Given the description of an element on the screen output the (x, y) to click on. 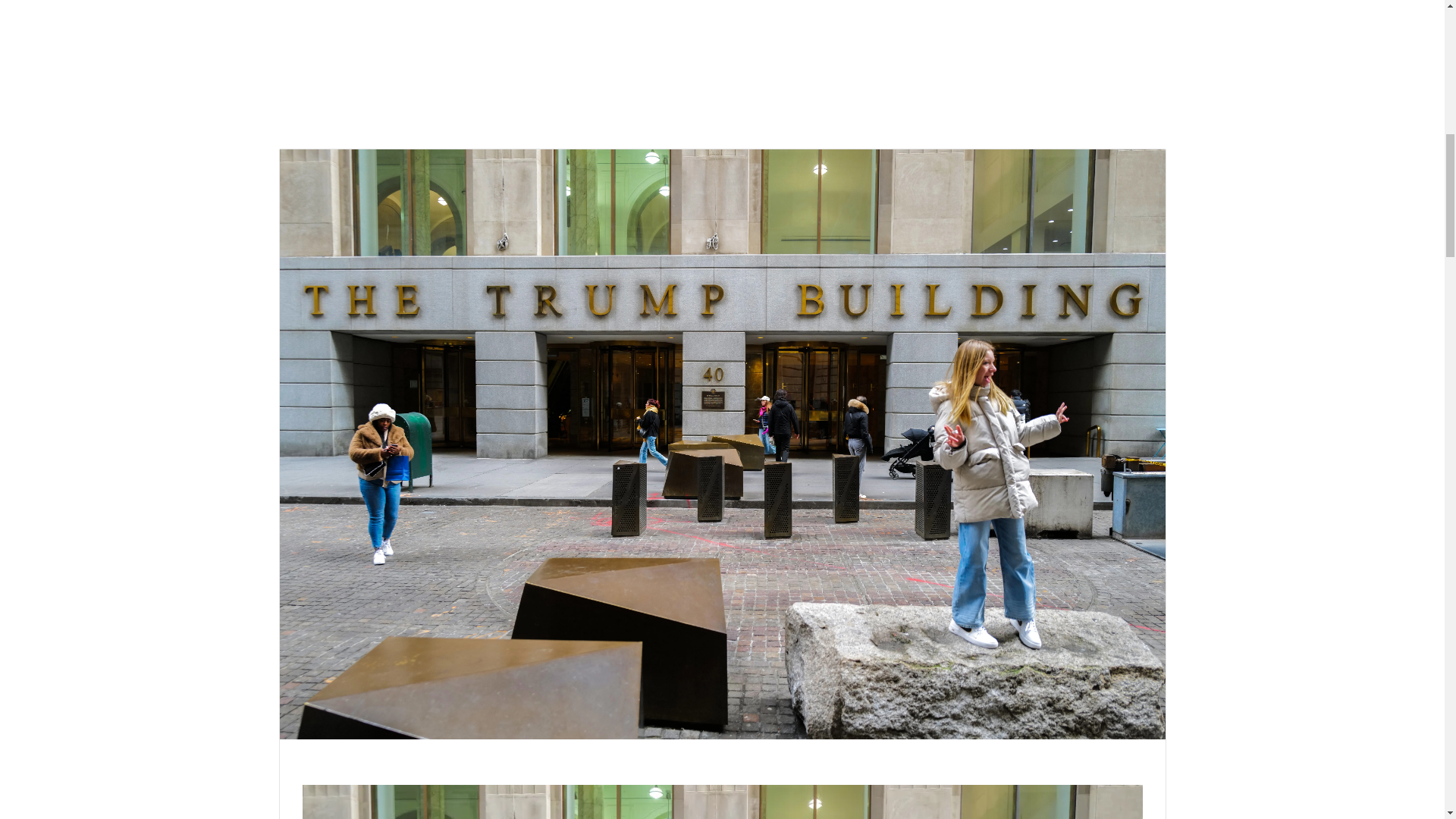
Advertisement (722, 63)
